Given the description of an element on the screen output the (x, y) to click on. 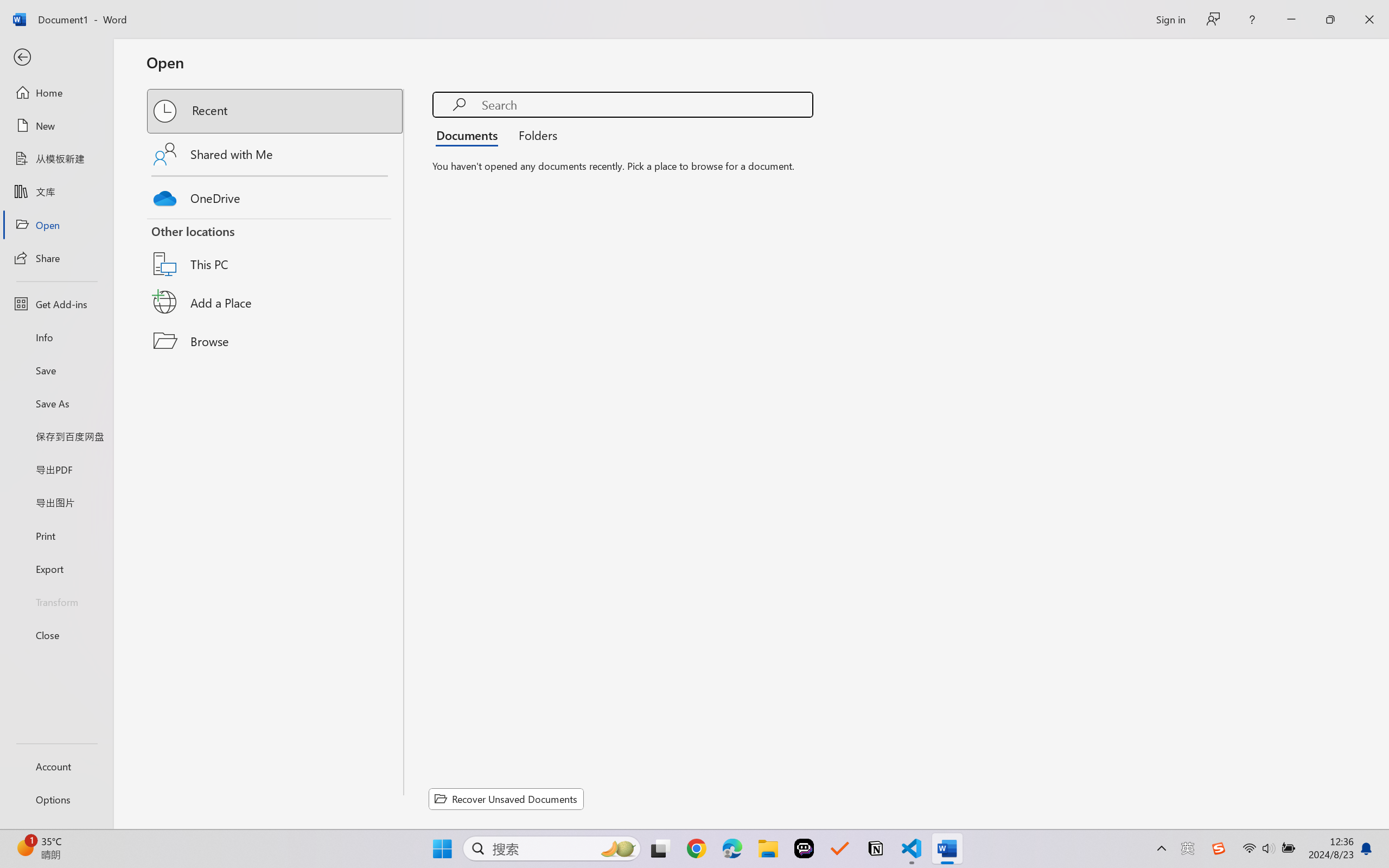
Shared with Me (275, 153)
Save As (56, 403)
Export (56, 568)
Documents (469, 134)
Transform (56, 601)
